Given the description of an element on the screen output the (x, y) to click on. 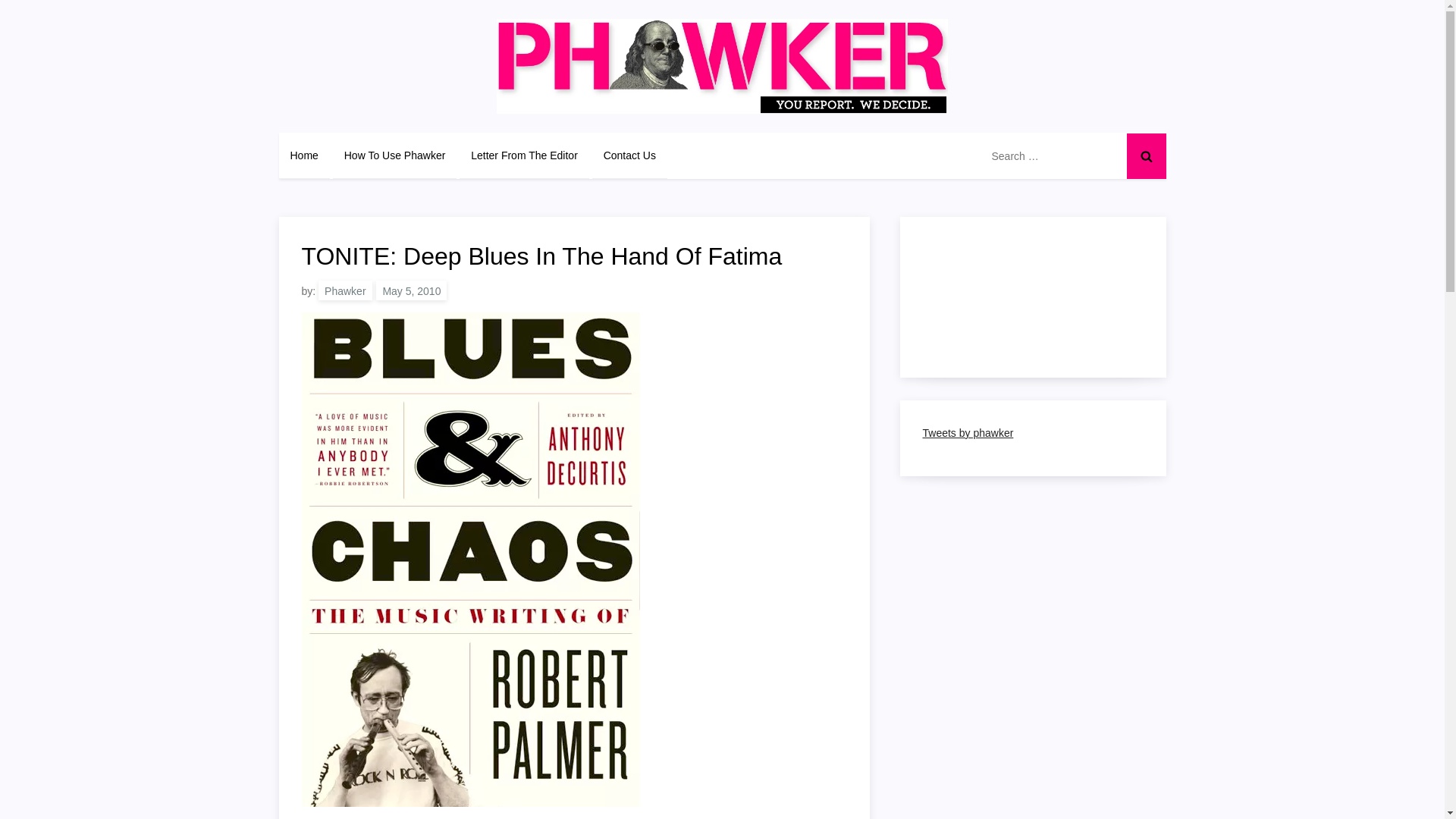
Tweets by phawker (967, 432)
Letter From The Editor (524, 155)
Contact Us (629, 155)
How To Use Phawker (395, 155)
May 5, 2010 (410, 290)
Phawker (344, 290)
Home (304, 155)
